Given the description of an element on the screen output the (x, y) to click on. 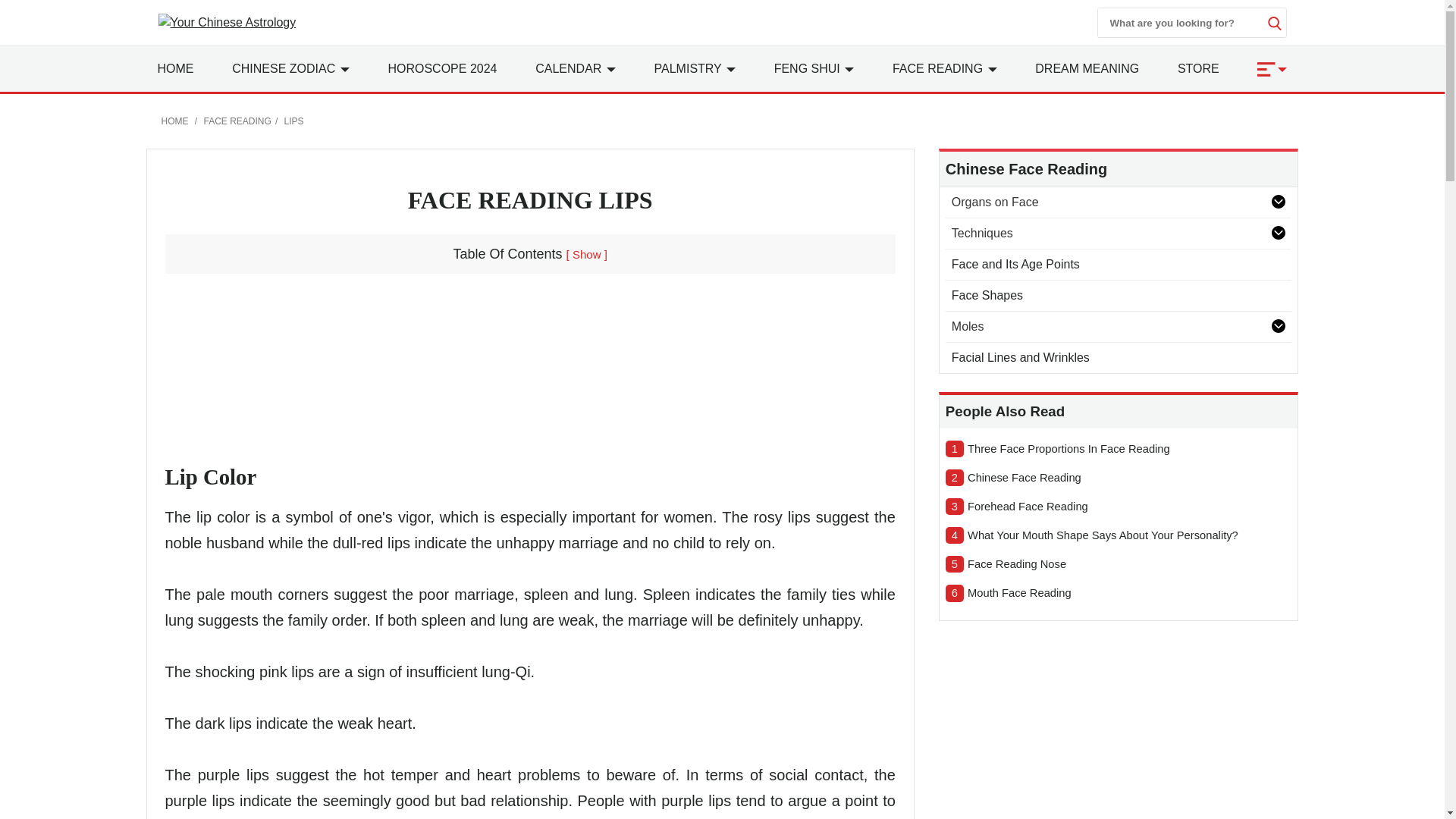
Mouth Face Reading (1129, 592)
HOROSCOPE 2024 (441, 68)
Chinese Face Reading (1129, 477)
Face Reading Nose (1129, 564)
PALMISTRY (694, 68)
HOME (175, 68)
CHINESE ZODIAC (290, 68)
What Your Mouth Shape Says About Your Personality? (1129, 535)
Forehead Face Reading (1129, 506)
CALENDAR (575, 68)
